Given the description of an element on the screen output the (x, y) to click on. 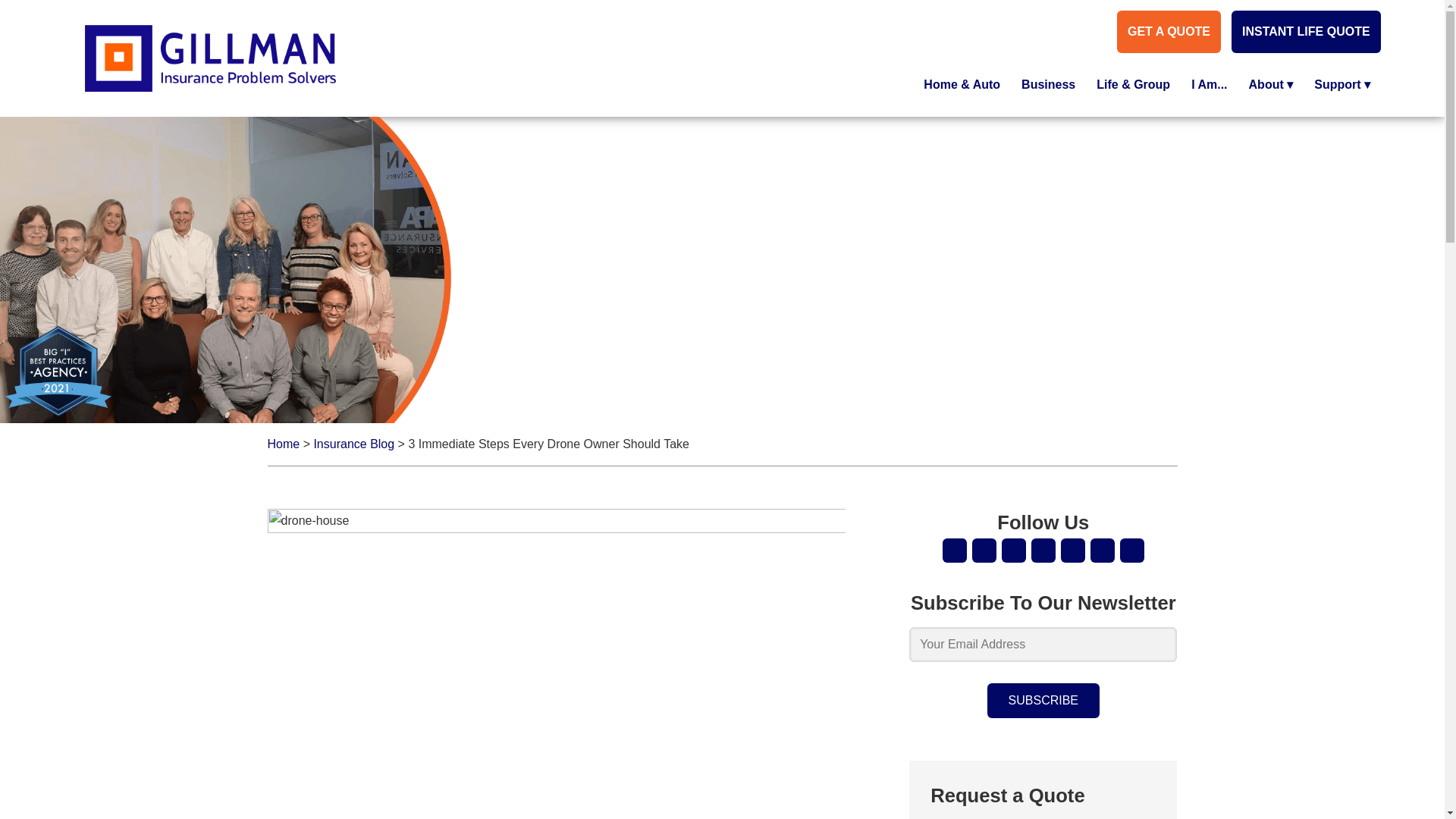
Google Maps (954, 550)
LinkedIn (1072, 550)
Facebook (1013, 550)
X (1042, 550)
Subscribe (1043, 700)
INSTANT LIFE QUOTE (1305, 31)
Business (1048, 84)
YouTube (1102, 550)
Yelp (983, 550)
